Given the description of an element on the screen output the (x, y) to click on. 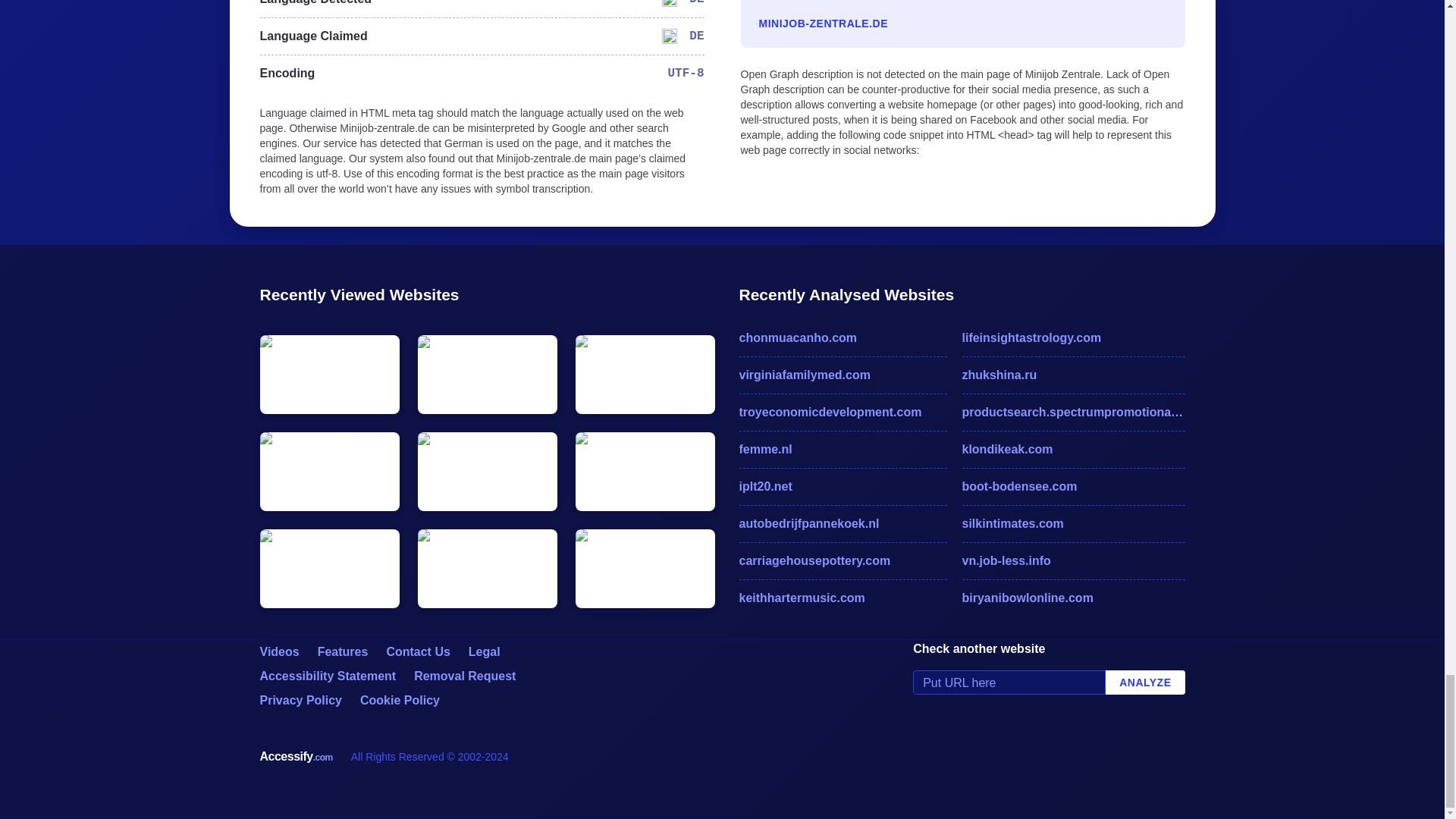
virginiafamilymed.com (842, 375)
chonmuacanho.com (842, 338)
troyeconomicdevelopment.com (842, 412)
lifeinsightastrology.com (1072, 338)
zhukshina.ru (1072, 375)
iplt20.net (842, 486)
Videos (278, 651)
autobedrijfpannekoek.nl (842, 524)
Contact Us (417, 651)
productsearch.spectrumpromotional.com (1072, 412)
carriagehousepottery.com (842, 561)
Features (342, 651)
silkintimates.com (1072, 524)
klondikeak.com (1072, 449)
